Given the description of an element on the screen output the (x, y) to click on. 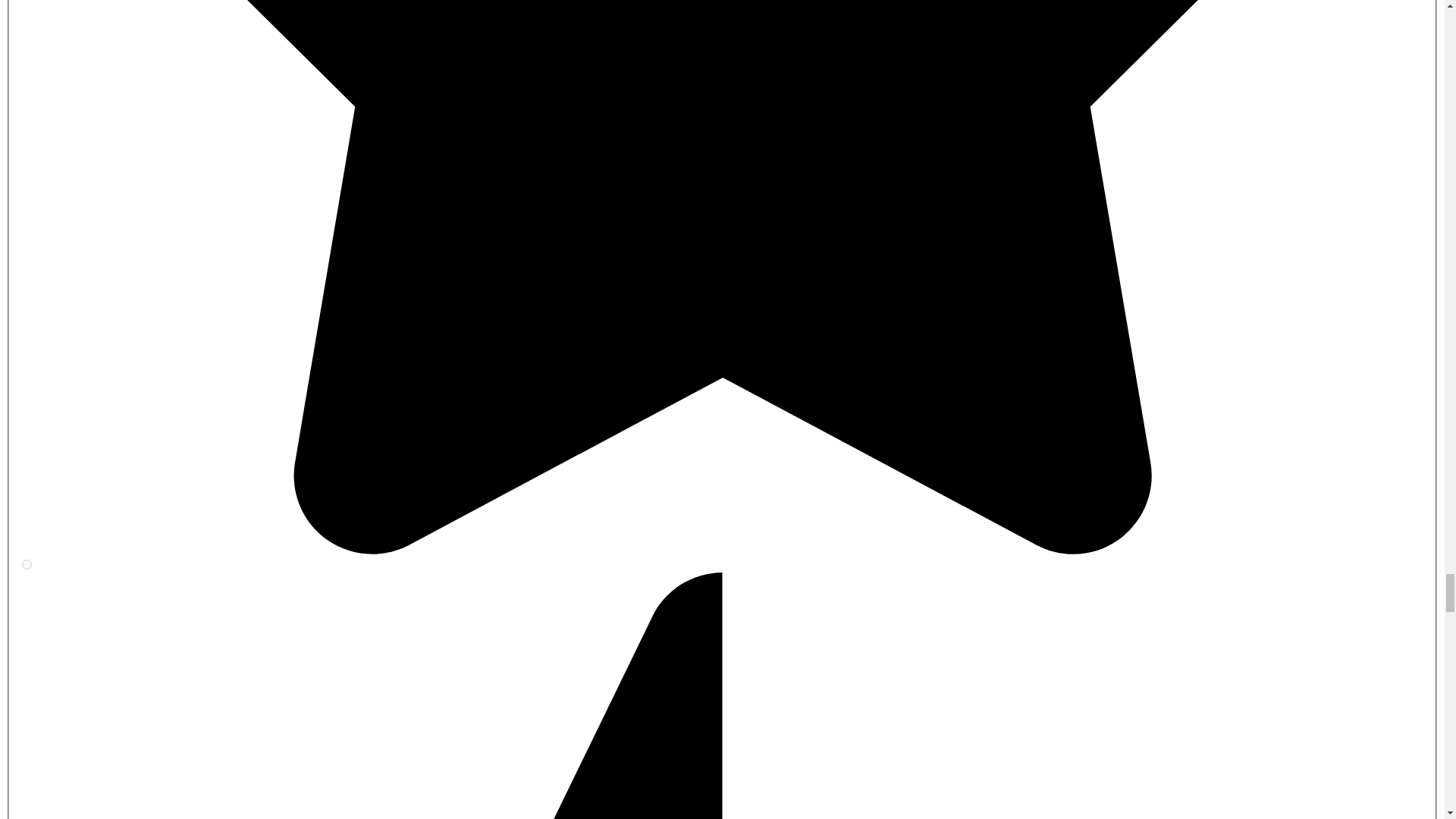
0.5 (26, 564)
